Given the description of an element on the screen output the (x, y) to click on. 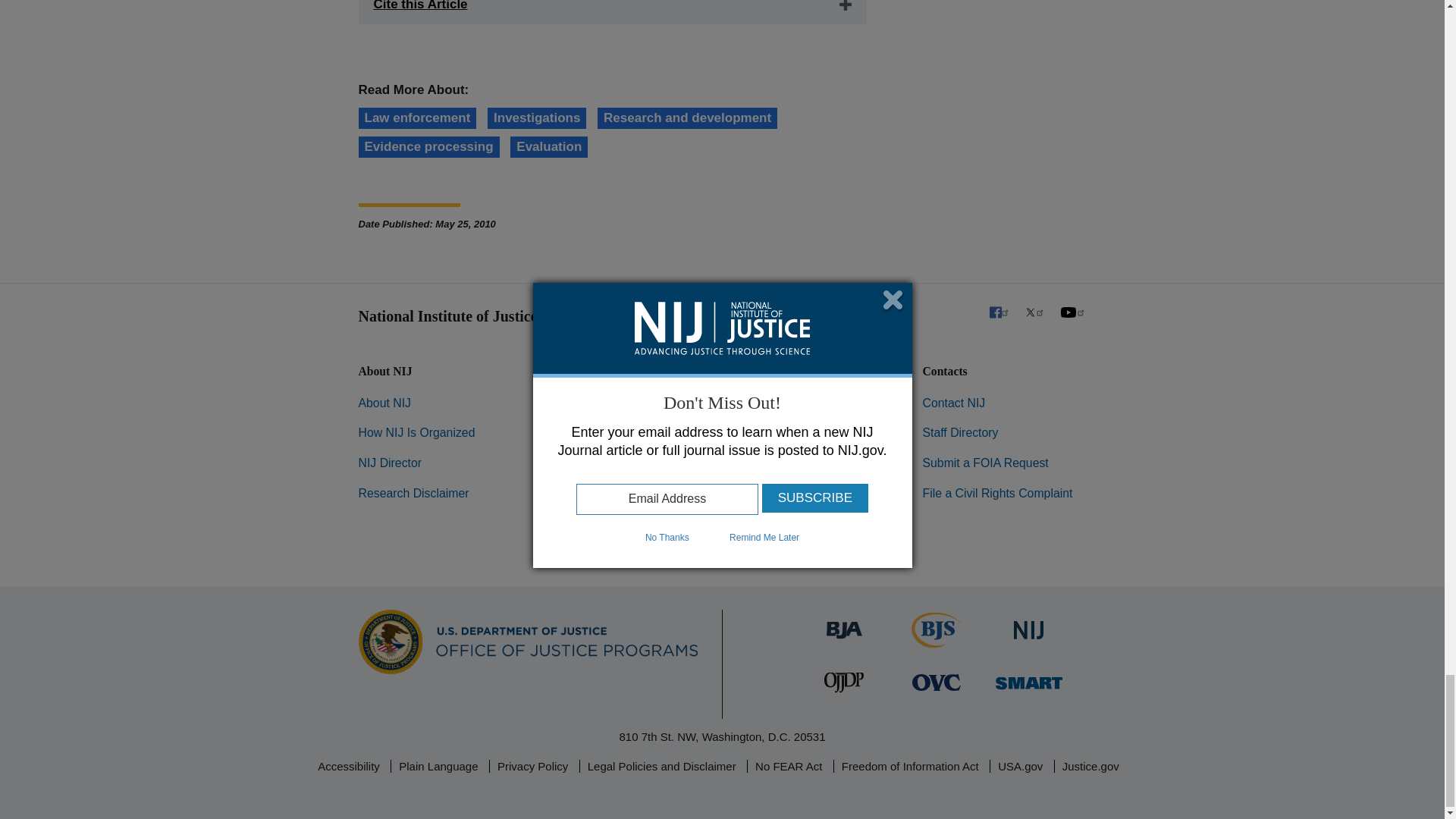
Cite this Article (612, 12)
Law enforcement (417, 117)
